Given the description of an element on the screen output the (x, y) to click on. 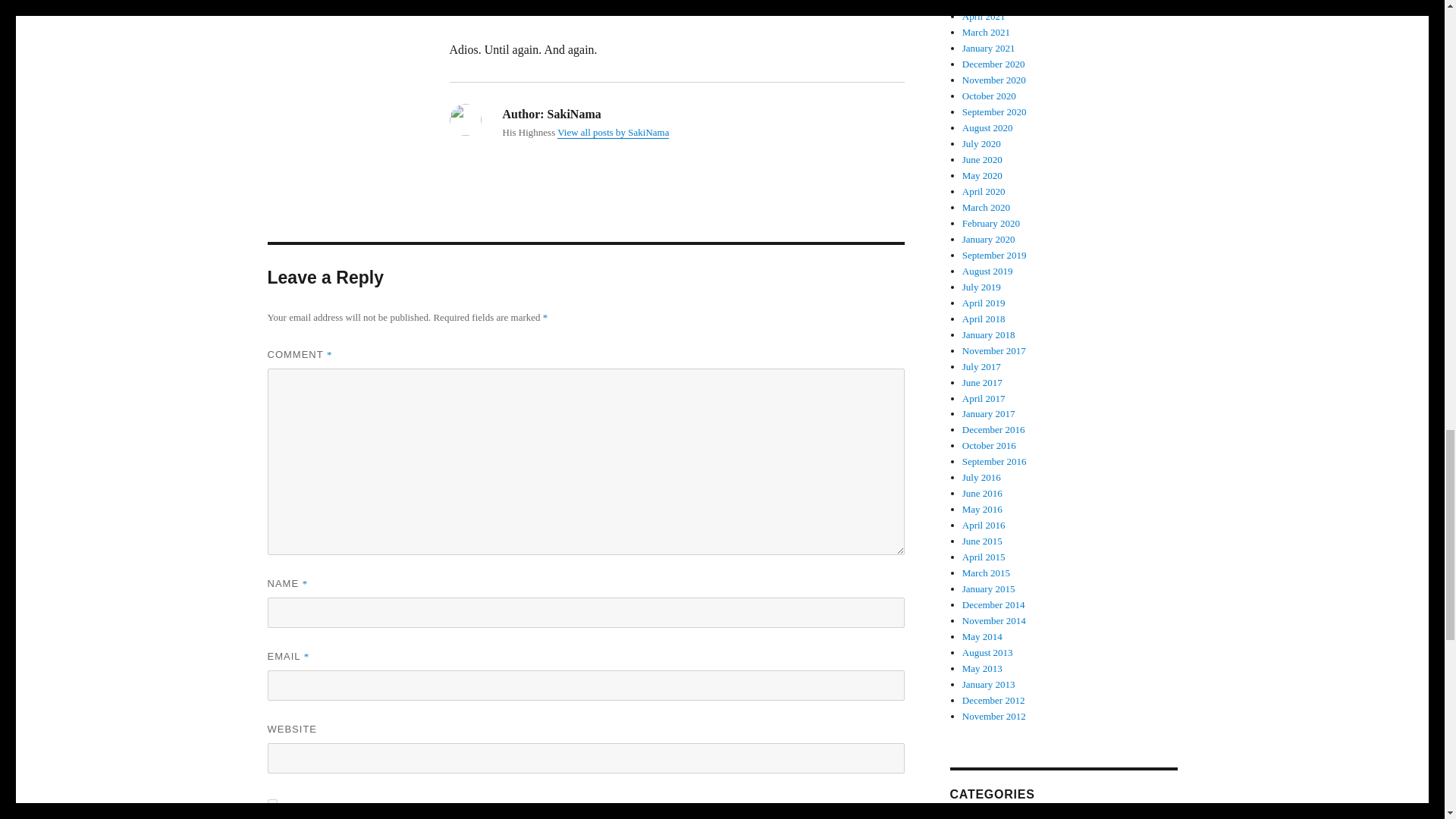
yes (271, 804)
View all posts by SakiNama (612, 132)
